Given the description of an element on the screen output the (x, y) to click on. 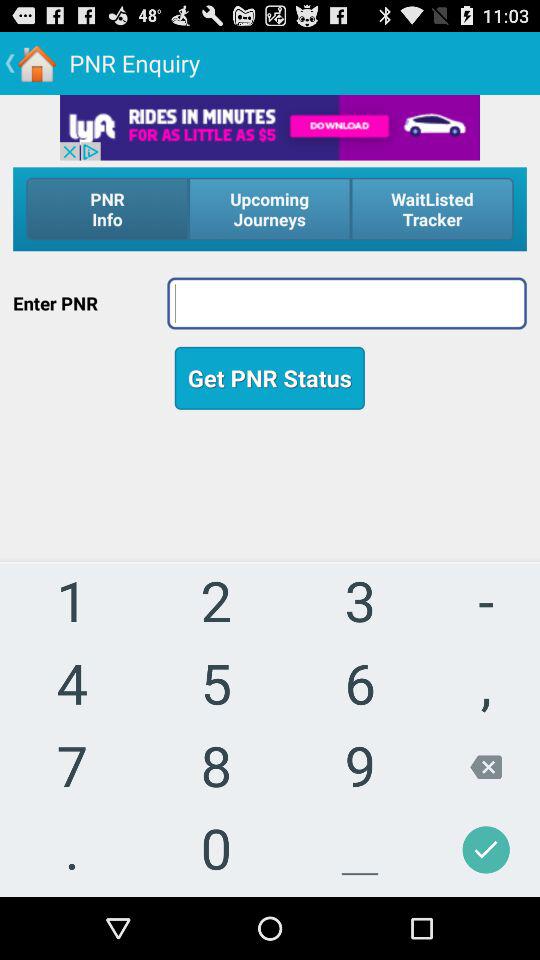
enlarge the number pad (269, 674)
